Given the description of an element on the screen output the (x, y) to click on. 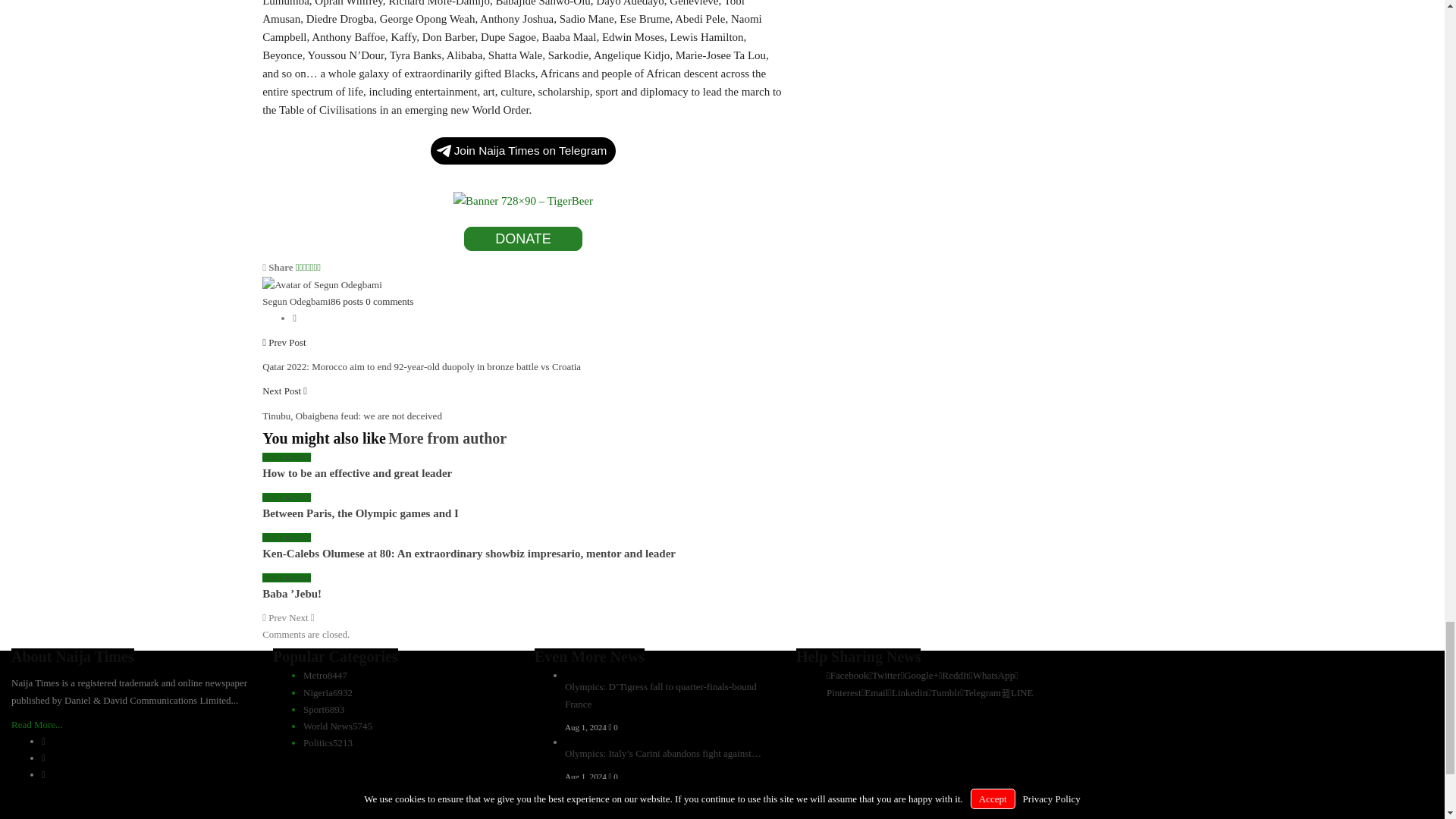
Browse Author Articles (321, 283)
How to be an effective and great leader (356, 472)
Next (301, 617)
Previous (275, 617)
Between Paris, the Olympic games and I (360, 512)
